Given the description of an element on the screen output the (x, y) to click on. 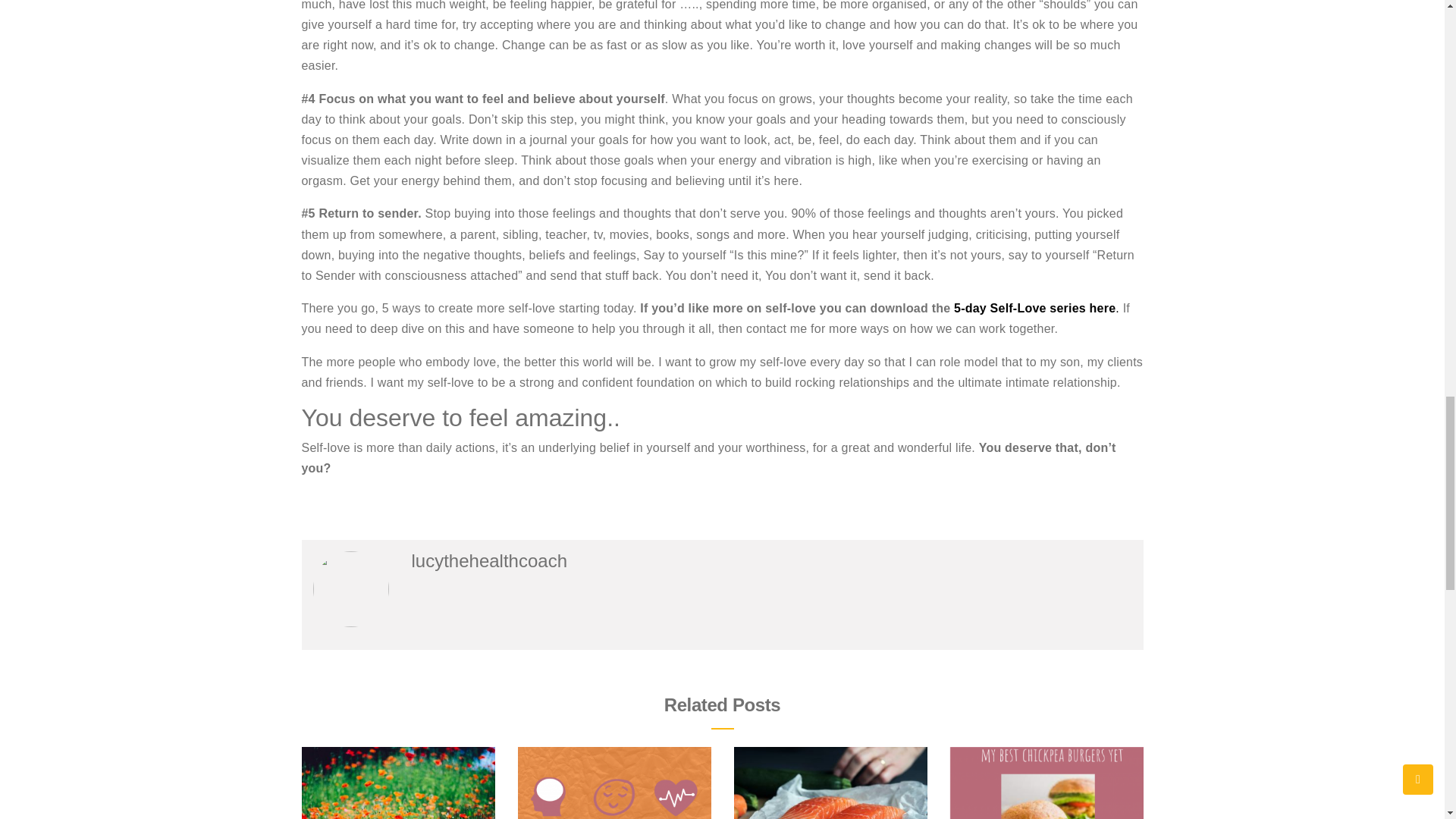
5-day Self-Love series here. (1037, 308)
